Given the description of an element on the screen output the (x, y) to click on. 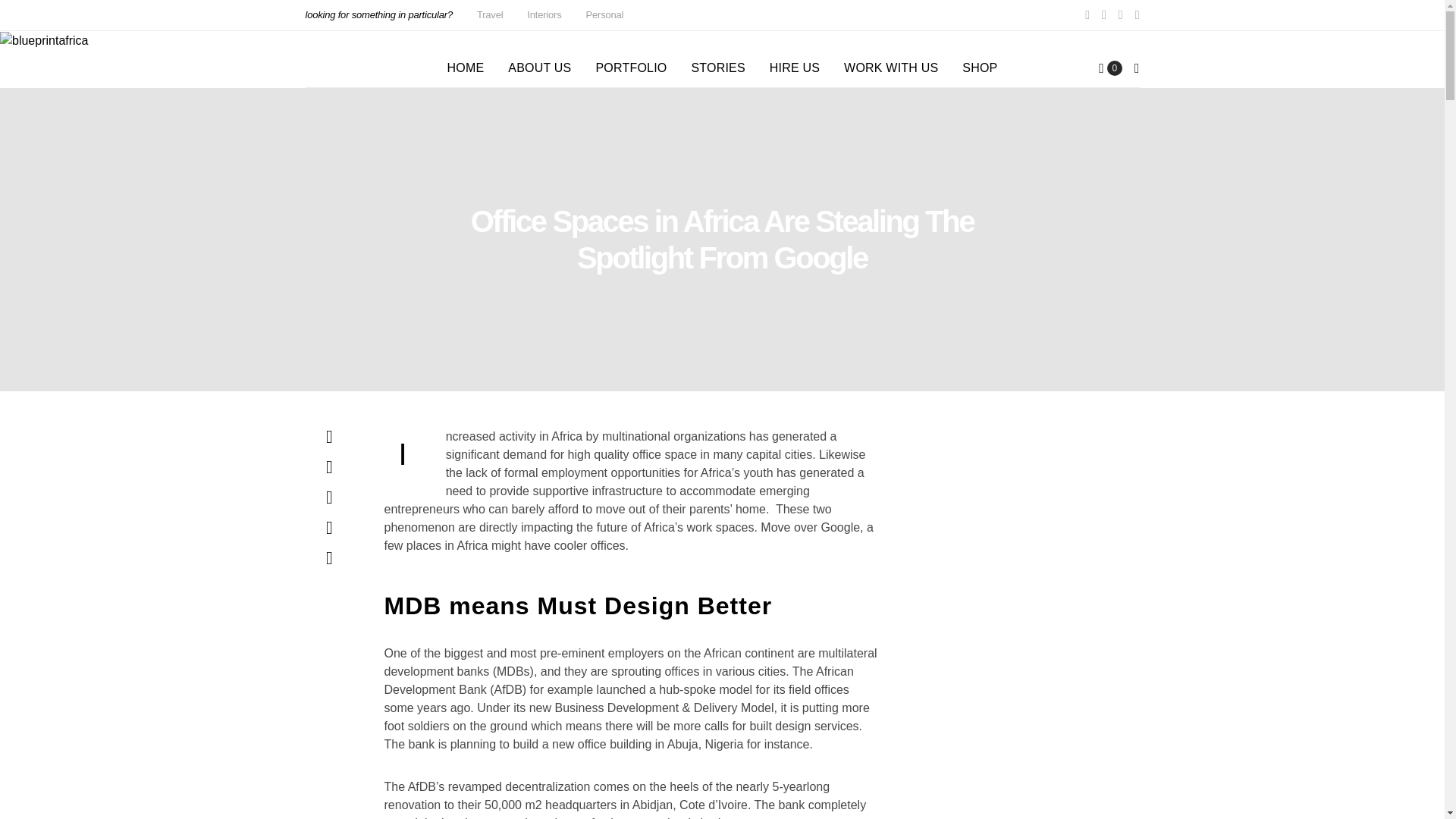
Travel (489, 14)
View your shopping cart (1110, 68)
STORIES (717, 67)
ABOUT US (539, 67)
0 (1110, 68)
HOME (465, 67)
HIRE US (794, 67)
Interiors (543, 14)
WORK WITH US (890, 67)
Personal (605, 14)
SHOP (979, 67)
PORTFOLIO (630, 67)
looking for something in particular? (377, 14)
